Given the description of an element on the screen output the (x, y) to click on. 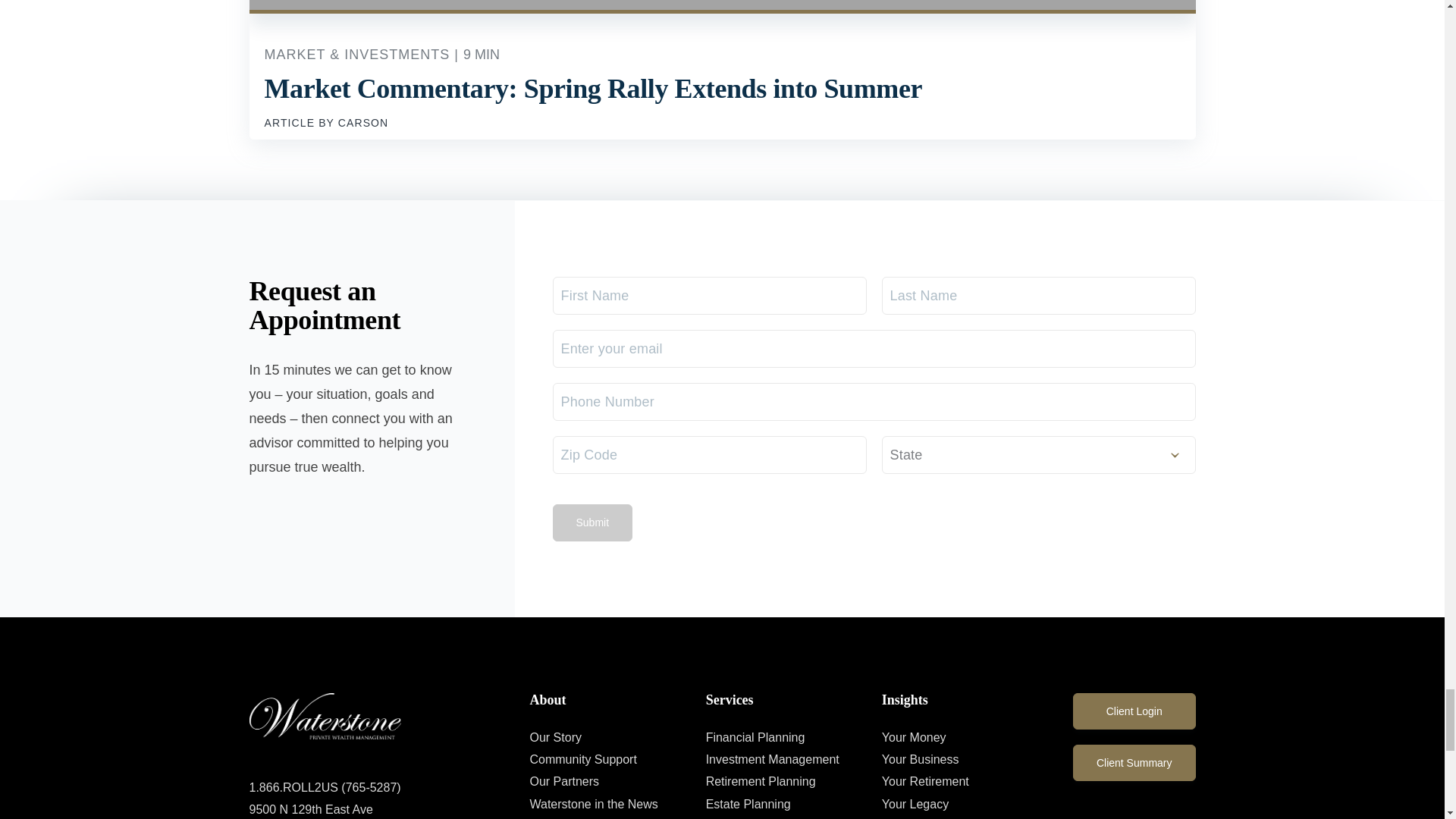
Submit (591, 522)
